Given the description of an element on the screen output the (x, y) to click on. 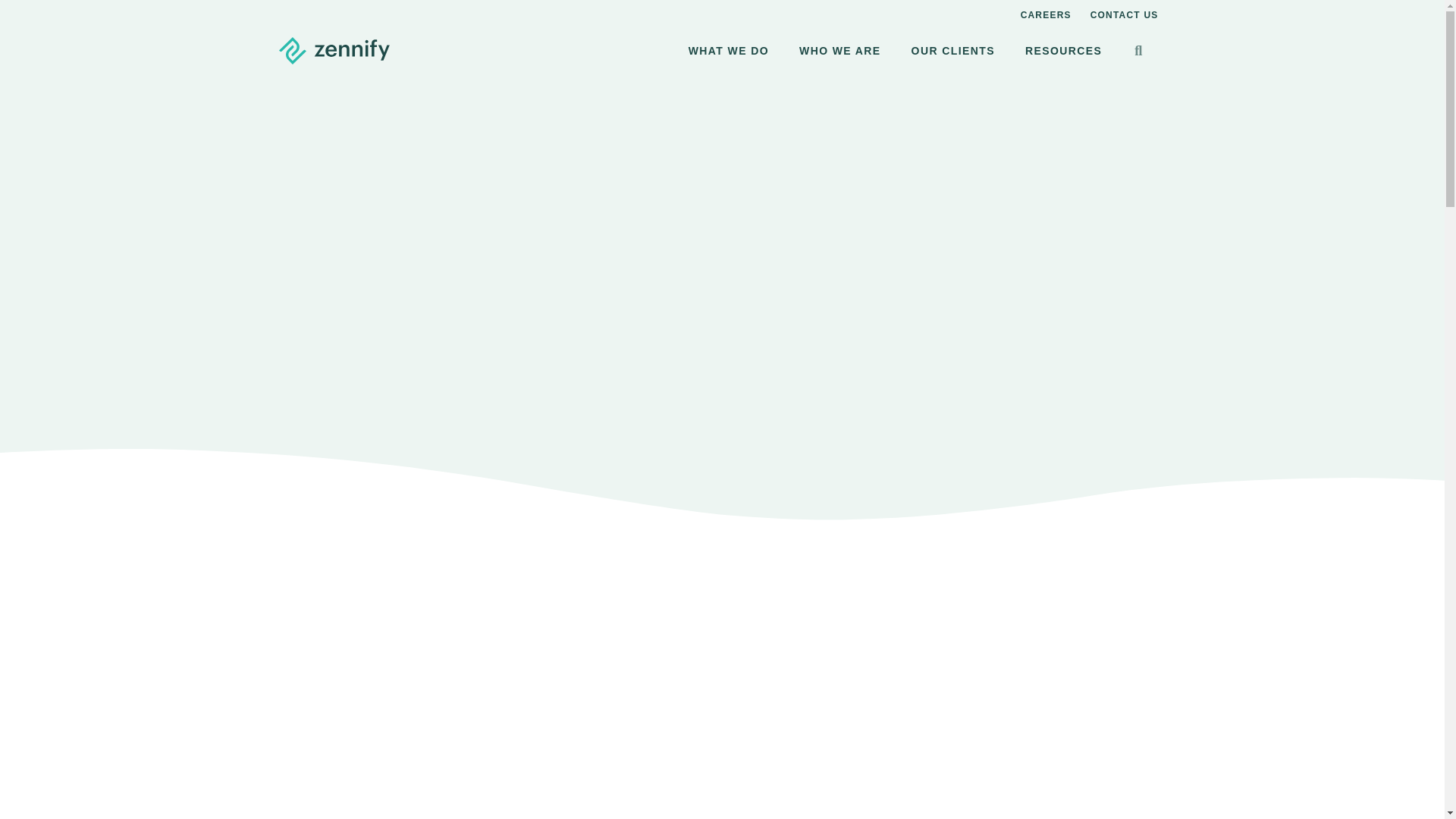
WHAT WE DO (728, 50)
WHO WE ARE (840, 50)
RESOURCES (1063, 50)
CONTACT US (1124, 15)
OUR CLIENTS (953, 50)
CAREERS (1045, 15)
